Given the description of an element on the screen output the (x, y) to click on. 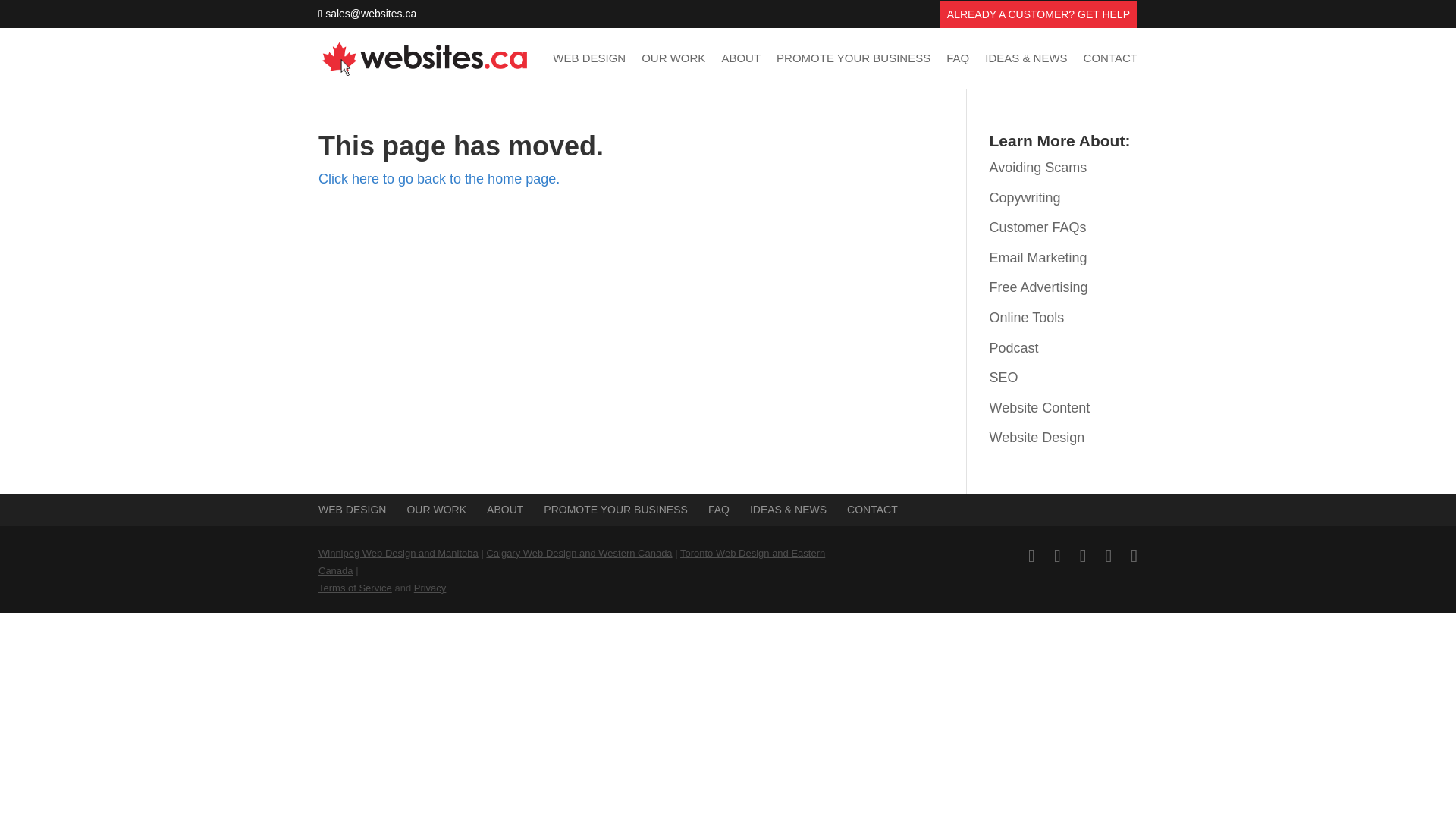
Podcast (1014, 347)
Customer FAQs (1038, 227)
Website Content (1040, 407)
SEO (1003, 377)
Click here to go back to the home page. (438, 178)
Avoiding Scams (1038, 167)
WEB DESIGN (351, 509)
CONTACT (872, 509)
ALREADY A CUSTOMER? GET HELP (1038, 18)
OUR WORK (673, 70)
ABOUT (740, 70)
CONTACT (1110, 70)
FAQ (718, 509)
Online Tools (1027, 317)
ABOUT (504, 509)
